Given the description of an element on the screen output the (x, y) to click on. 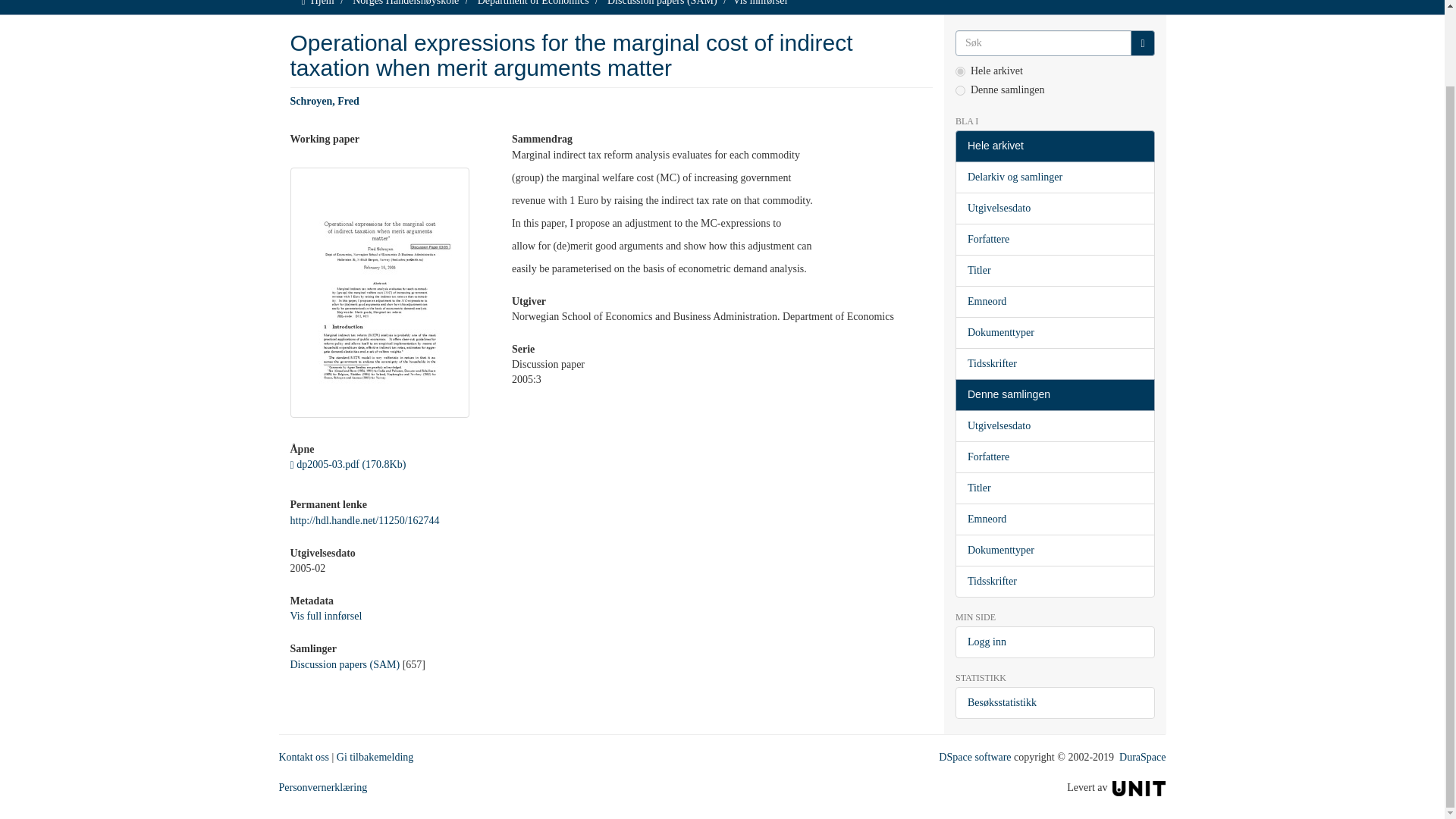
Hele arkivet (1054, 146)
Titler (1054, 270)
Emneord (1054, 301)
Unit (1139, 787)
Forfattere (1054, 239)
Delarkiv og samlinger (1054, 177)
Schroyen, Fred (323, 101)
Department of Economics (533, 2)
Utgivelsesdato (1054, 208)
Hjem (322, 2)
